Given the description of an element on the screen output the (x, y) to click on. 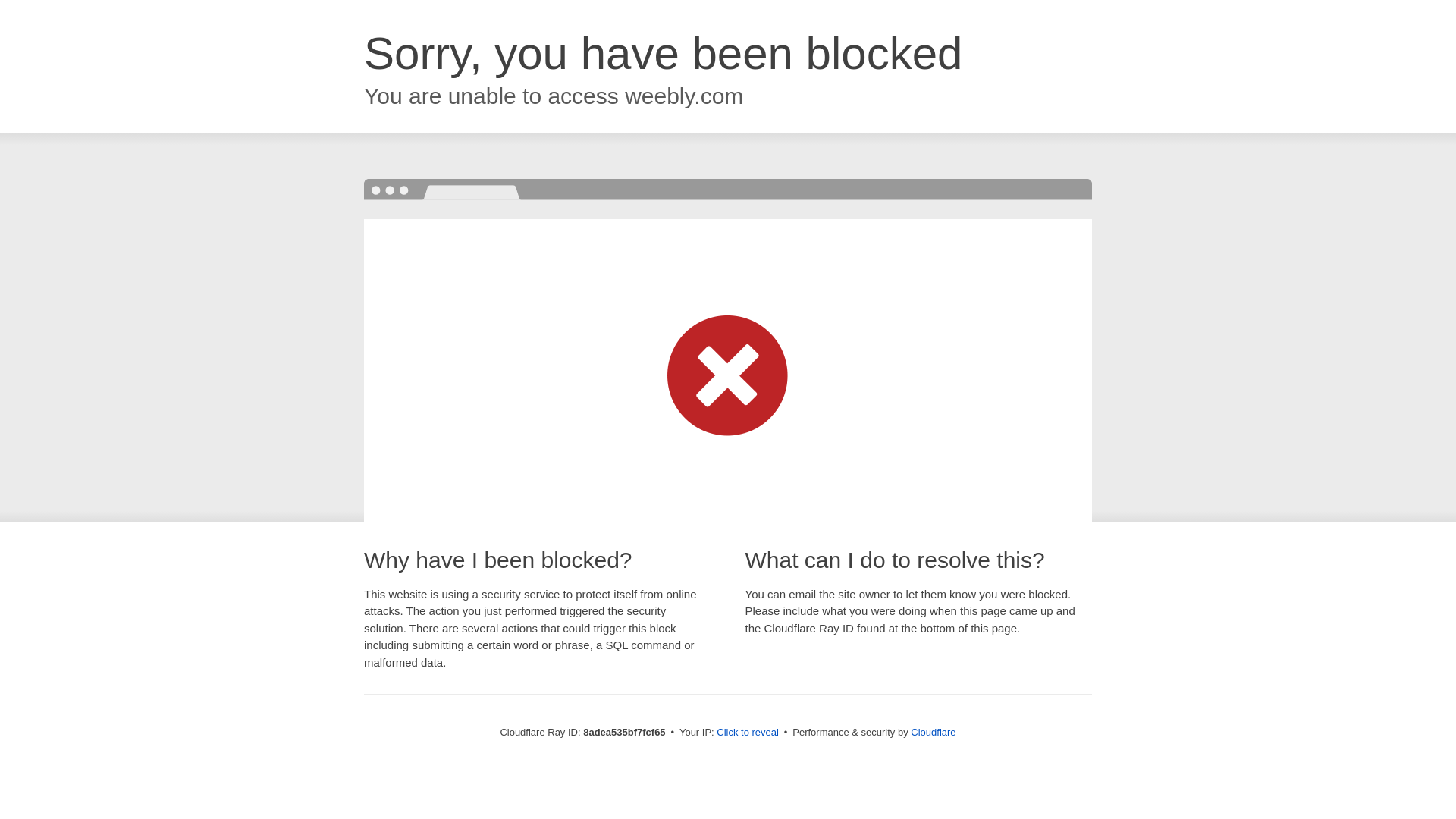
Click to reveal (747, 732)
Cloudflare (933, 731)
